Given the description of an element on the screen output the (x, y) to click on. 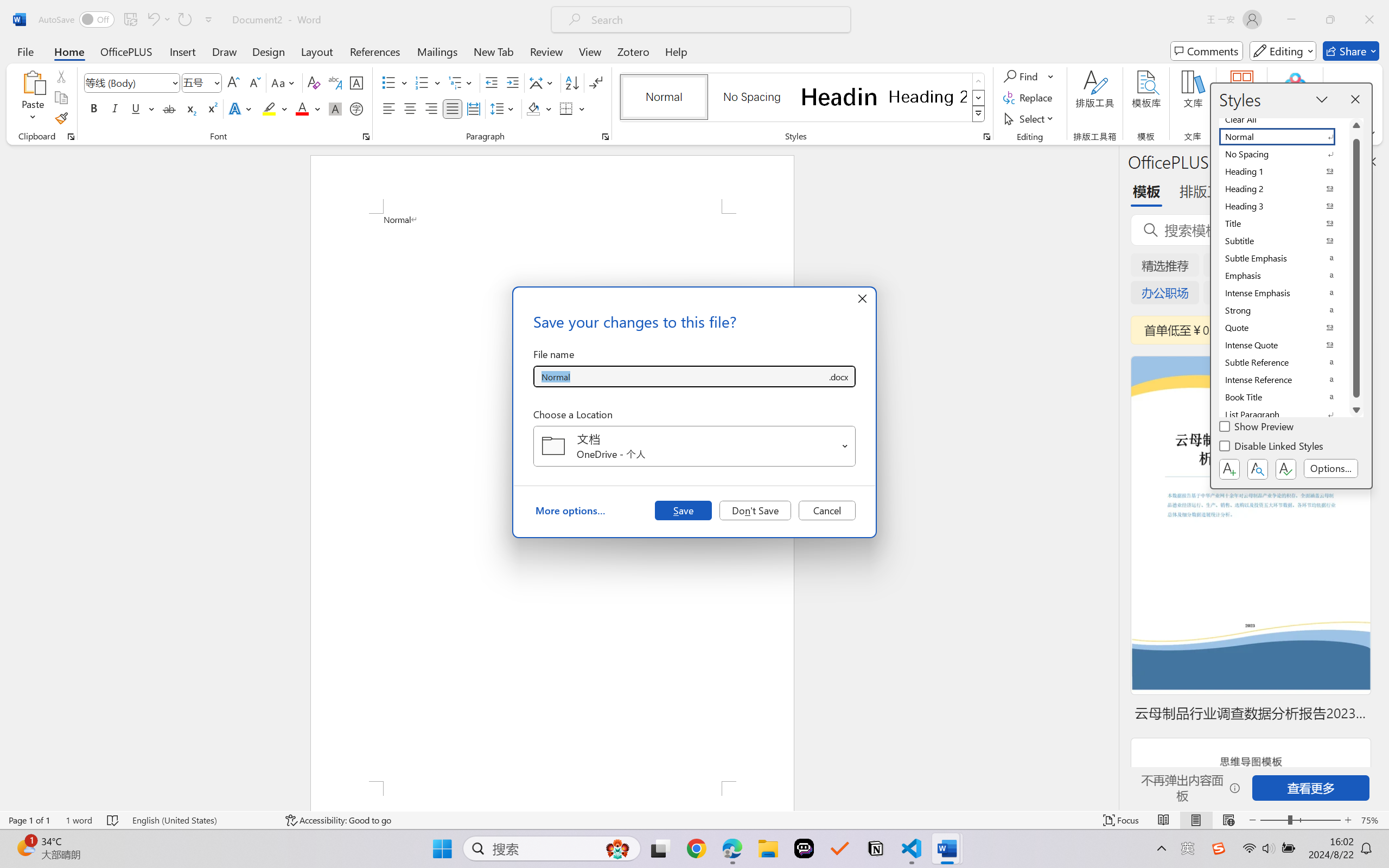
Class: NetUIButton (1285, 469)
Subtle Reference (1283, 362)
Borders (571, 108)
Character Border (356, 82)
Select (1030, 118)
Focus  (1121, 819)
Zotero (632, 51)
Character Shading (334, 108)
Row up (978, 81)
File Tab (24, 51)
Row Down (978, 97)
Paragraph... (605, 136)
